Given the description of an element on the screen output the (x, y) to click on. 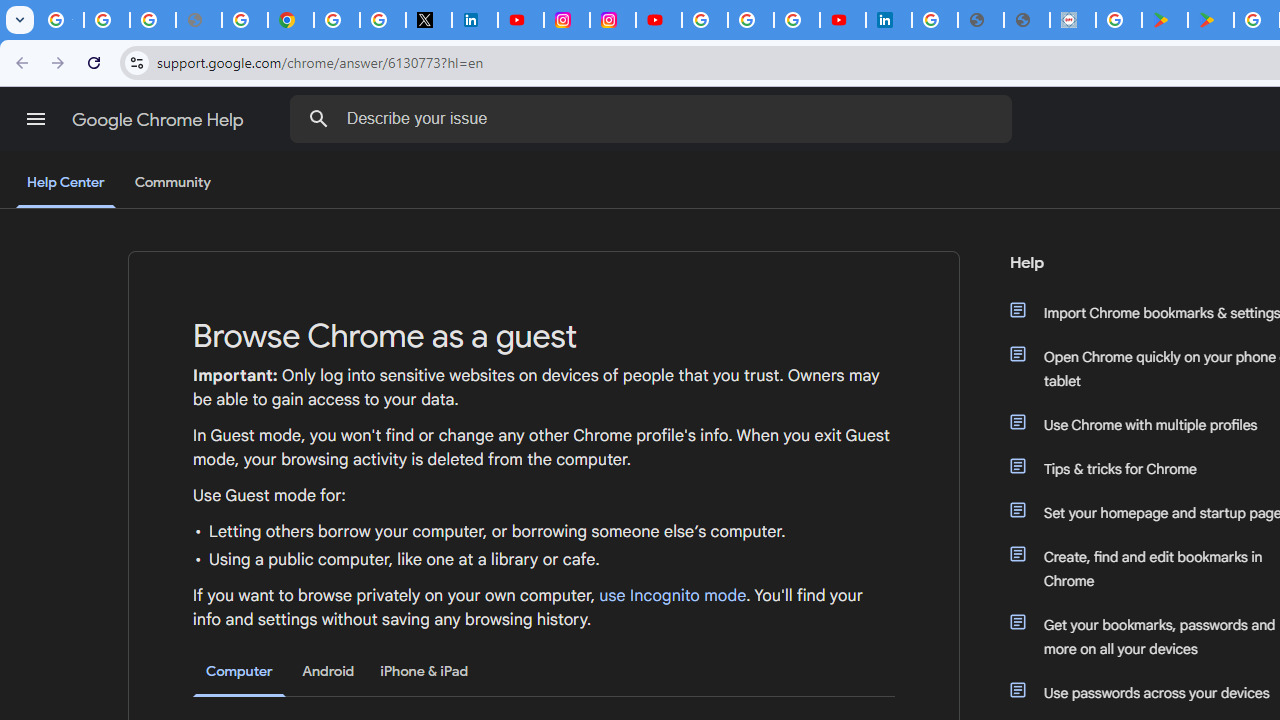
Privacy Help Center - Policies Help (244, 20)
use Incognito mode (673, 596)
Computer (239, 672)
Google Chrome Help (159, 119)
User Details (1026, 20)
Search Help Center (318, 118)
LinkedIn Privacy Policy (474, 20)
Sign in - Google Accounts (934, 20)
Android Apps on Google Play (1164, 20)
